Given the description of an element on the screen output the (x, y) to click on. 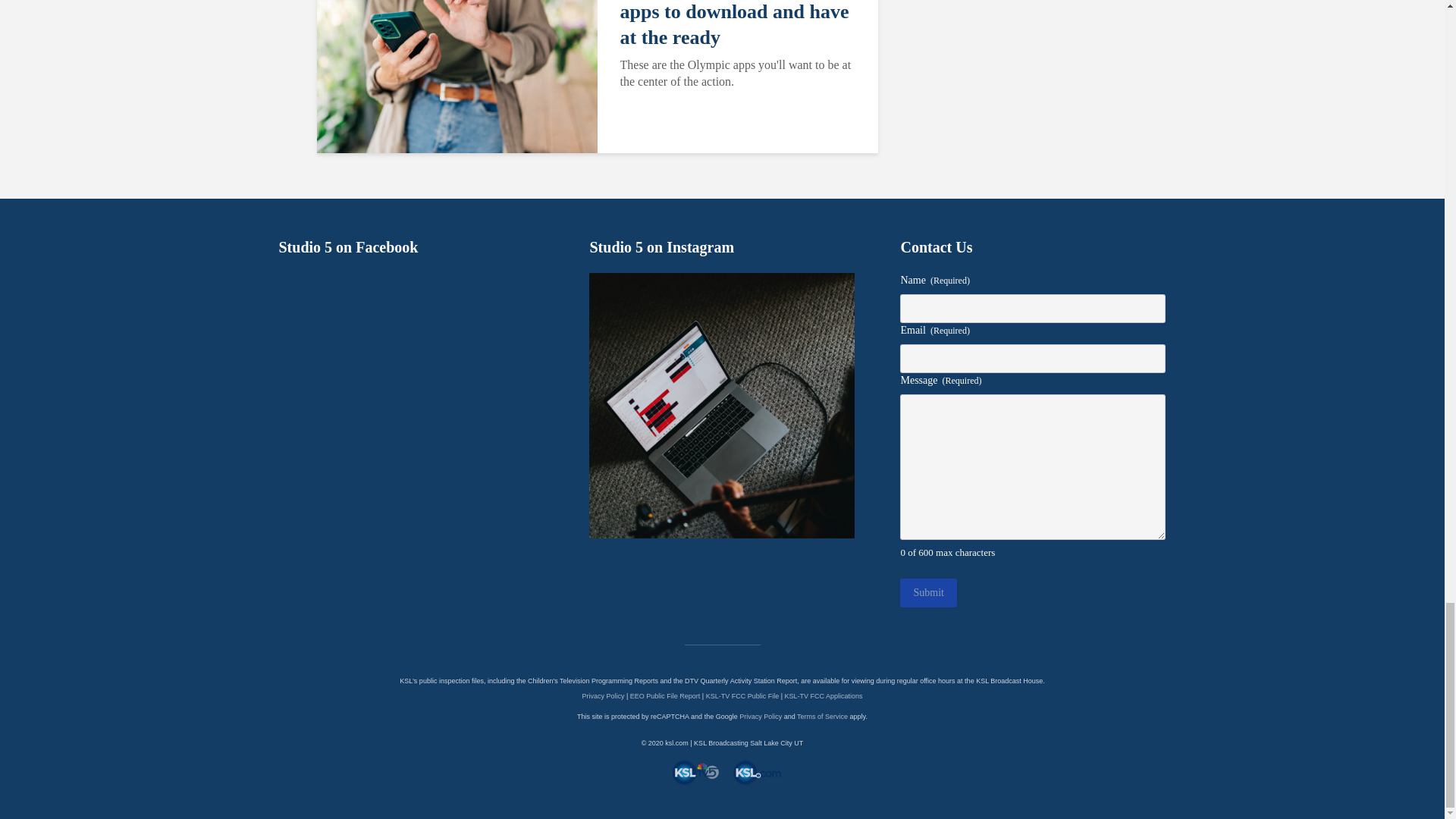
Tech Check: 4 Olympic apps to download and have at the ready (740, 25)
Submit (927, 592)
Tech Check: 4 Olympic apps to download and have at the ready (456, 38)
